Given the description of an element on the screen output the (x, y) to click on. 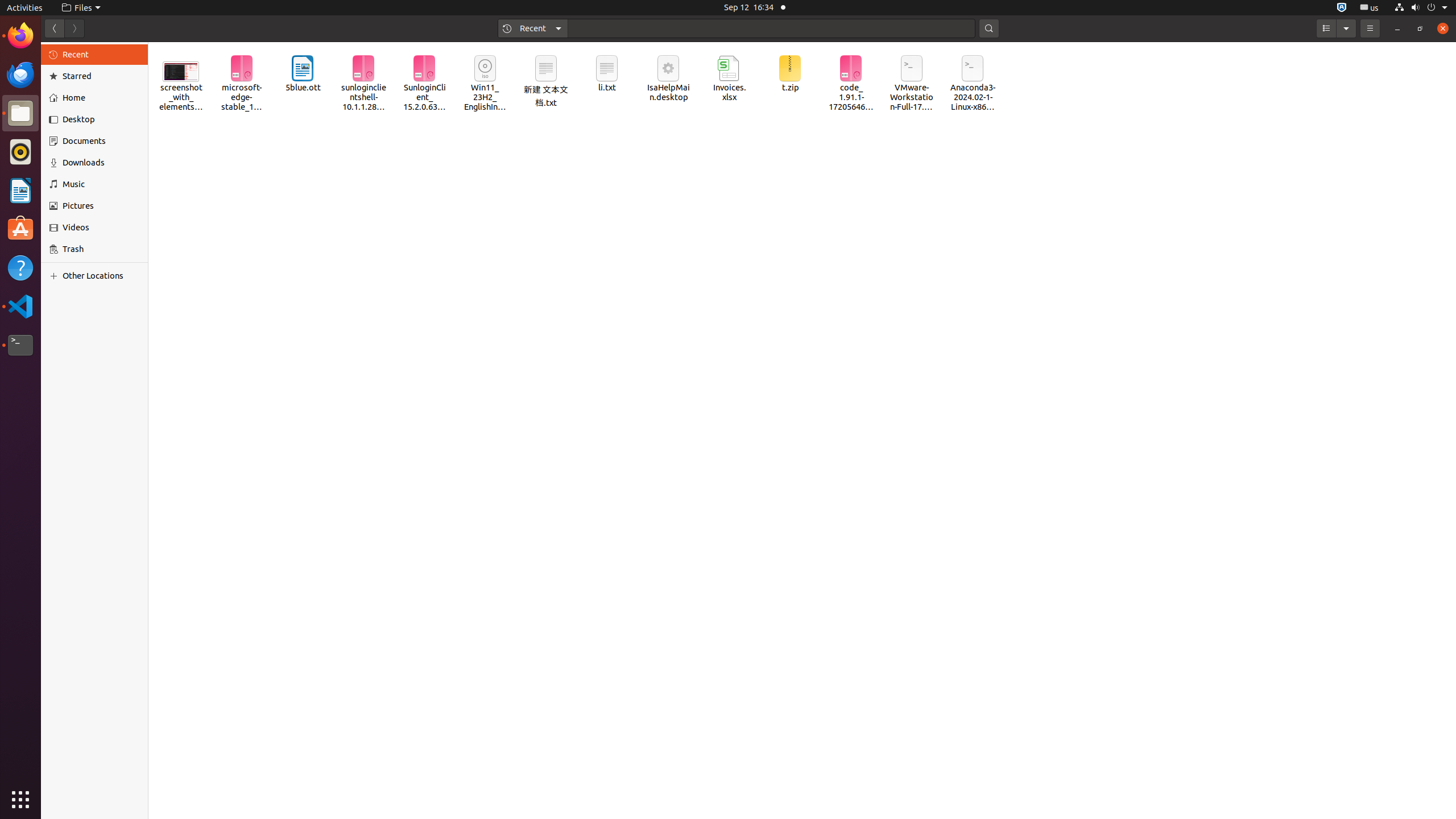
VMware-Workstation-Full-17.5.2-23775571.x86_64.bundle Element type: canvas (911, 83)
Videos Element type: label (100, 227)
li.txt Element type: canvas (607, 73)
sunloginclientshell-10.1.1.28779-amd64.deb Element type: canvas (363, 83)
